Given the description of an element on the screen output the (x, y) to click on. 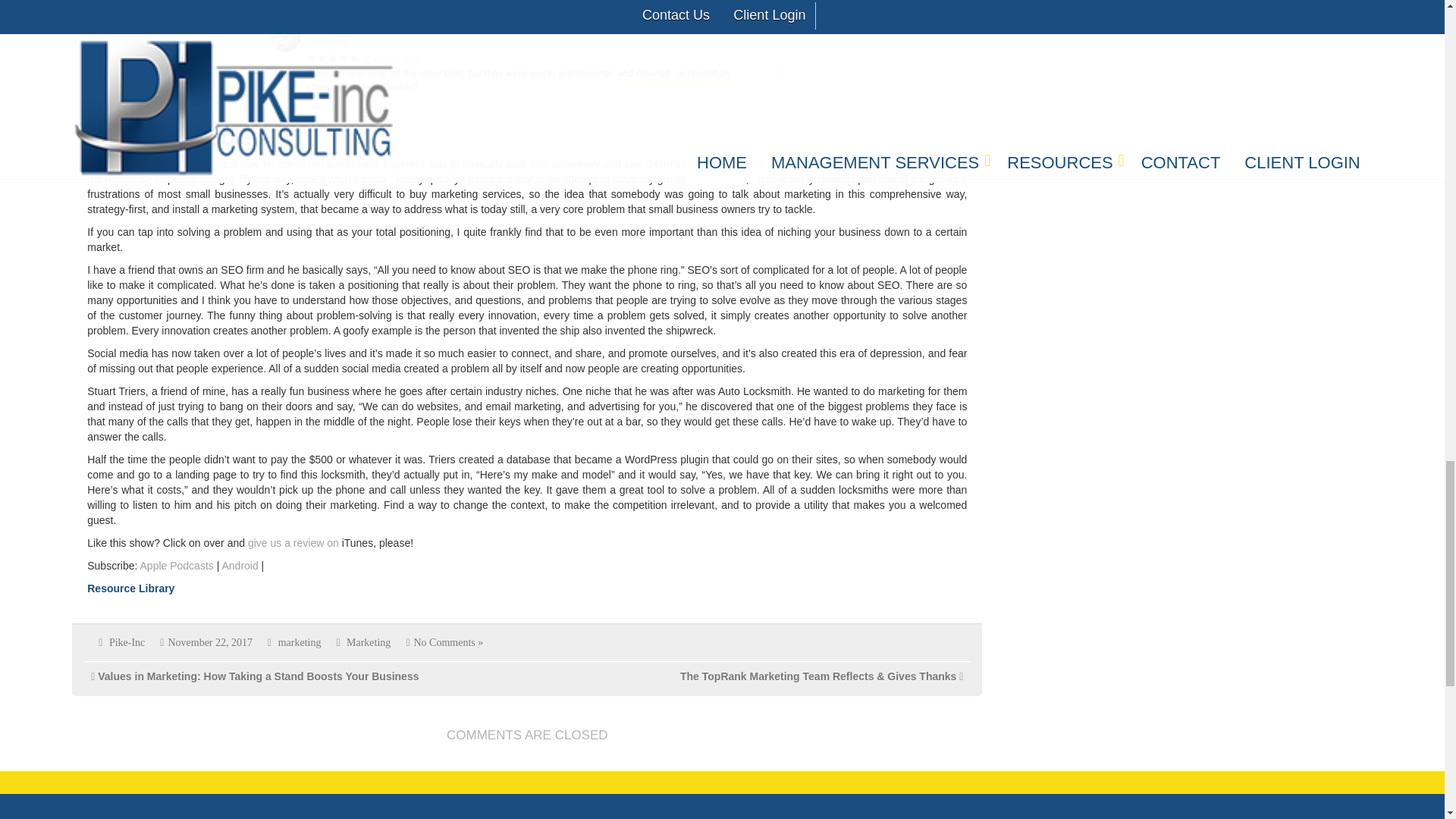
Apple Podcasts (176, 565)
Values in Marketing: How Taking a Stand Boosts Your Business (258, 676)
give us a review on (293, 542)
Marketing (368, 642)
Posts by Pike-Inc (126, 642)
marketing (299, 642)
Subscribe on Android (239, 565)
Pike-Inc (126, 642)
Resource Library (130, 588)
Subscribe on Apple Podcasts (176, 565)
Android (239, 565)
